Given the description of an element on the screen output the (x, y) to click on. 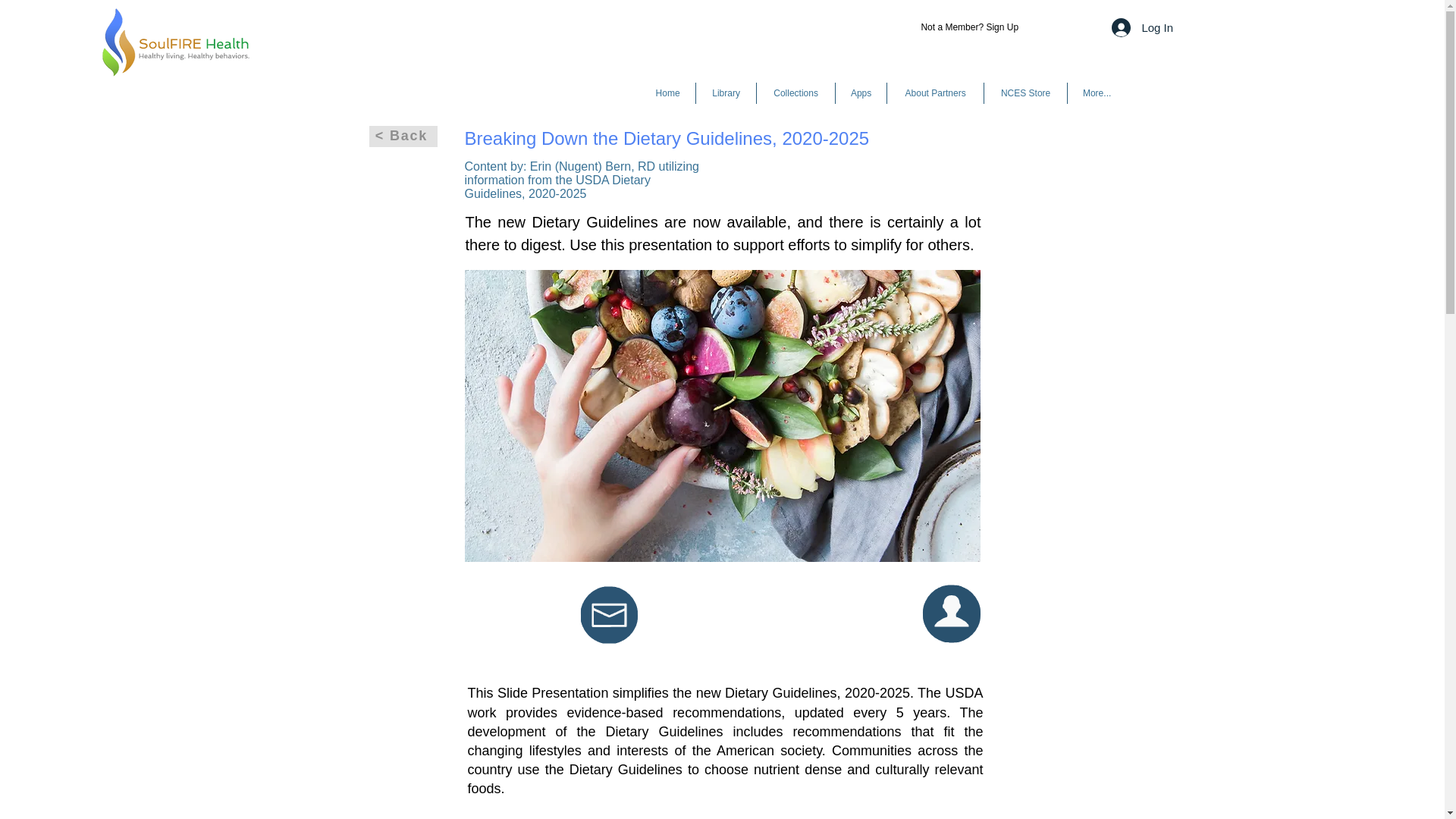
Not a Member? Sign Up (968, 27)
About Partners (935, 93)
NCES Store (1025, 93)
Apps (860, 93)
Log In (1141, 27)
Collections (795, 93)
Library (725, 93)
Home (667, 93)
